Given the description of an element on the screen output the (x, y) to click on. 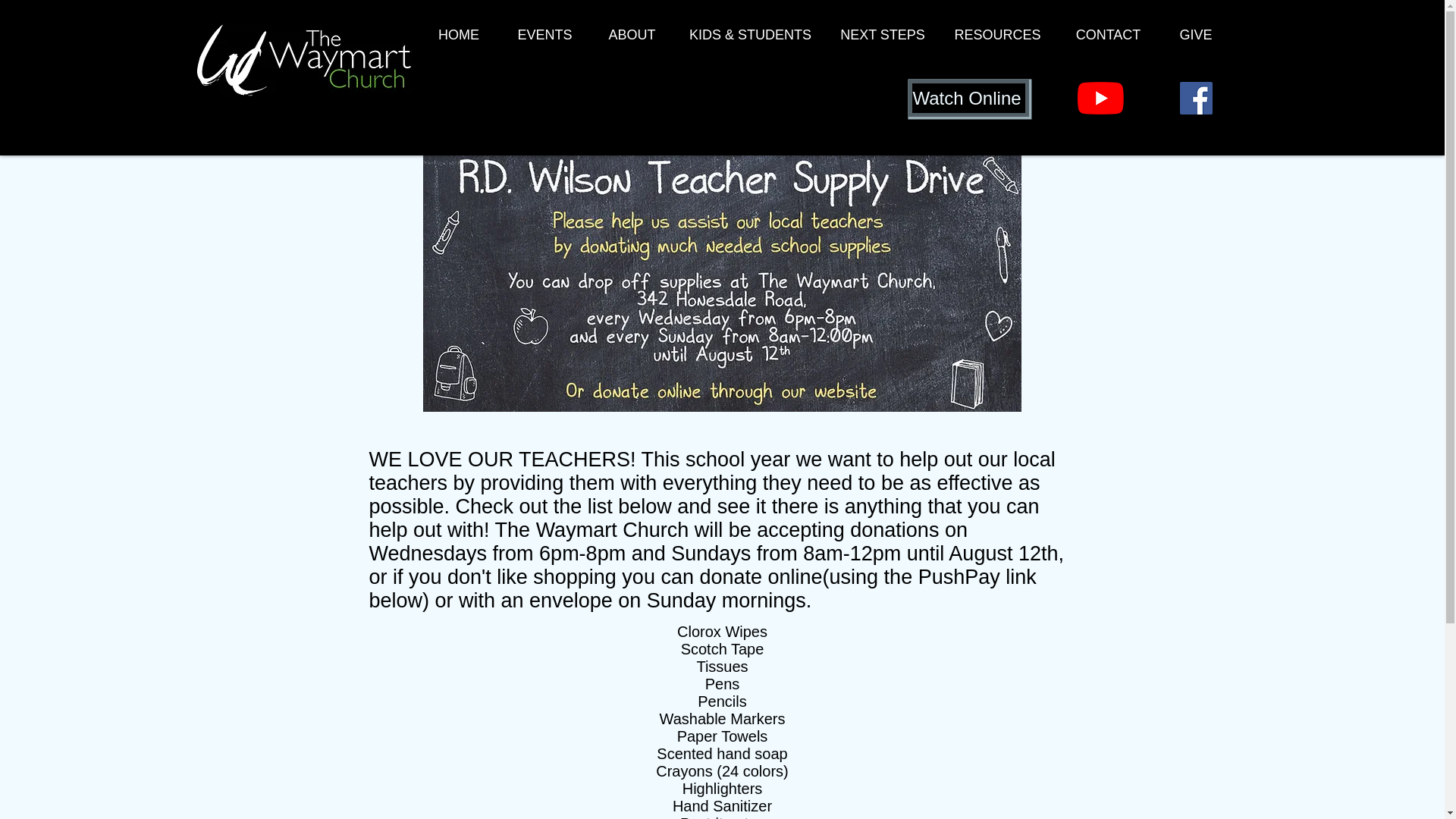
HOME (457, 39)
CONTACT (1107, 39)
ABOUT (632, 39)
Watch Online (968, 98)
NEXT STEPS (883, 39)
GIVE (1195, 39)
